Given the description of an element on the screen output the (x, y) to click on. 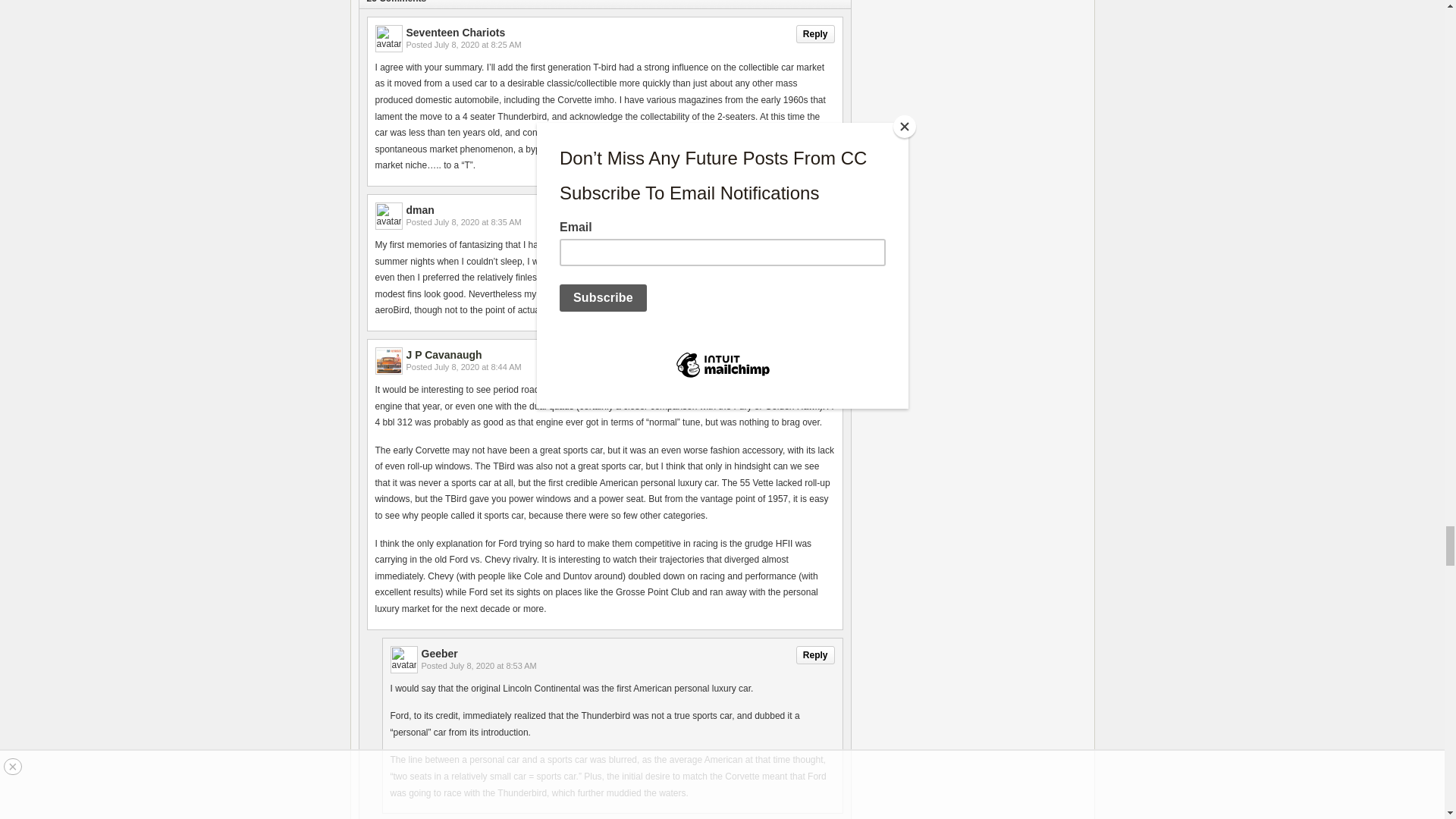
2020-07-08T08:25:27-07:00 (477, 44)
2020-07-08T08:53:27-07:00 (493, 665)
2020-07-08T08:44:06-07:00 (477, 366)
2020-07-08T08:35:15-07:00 (477, 221)
